Given the description of an element on the screen output the (x, y) to click on. 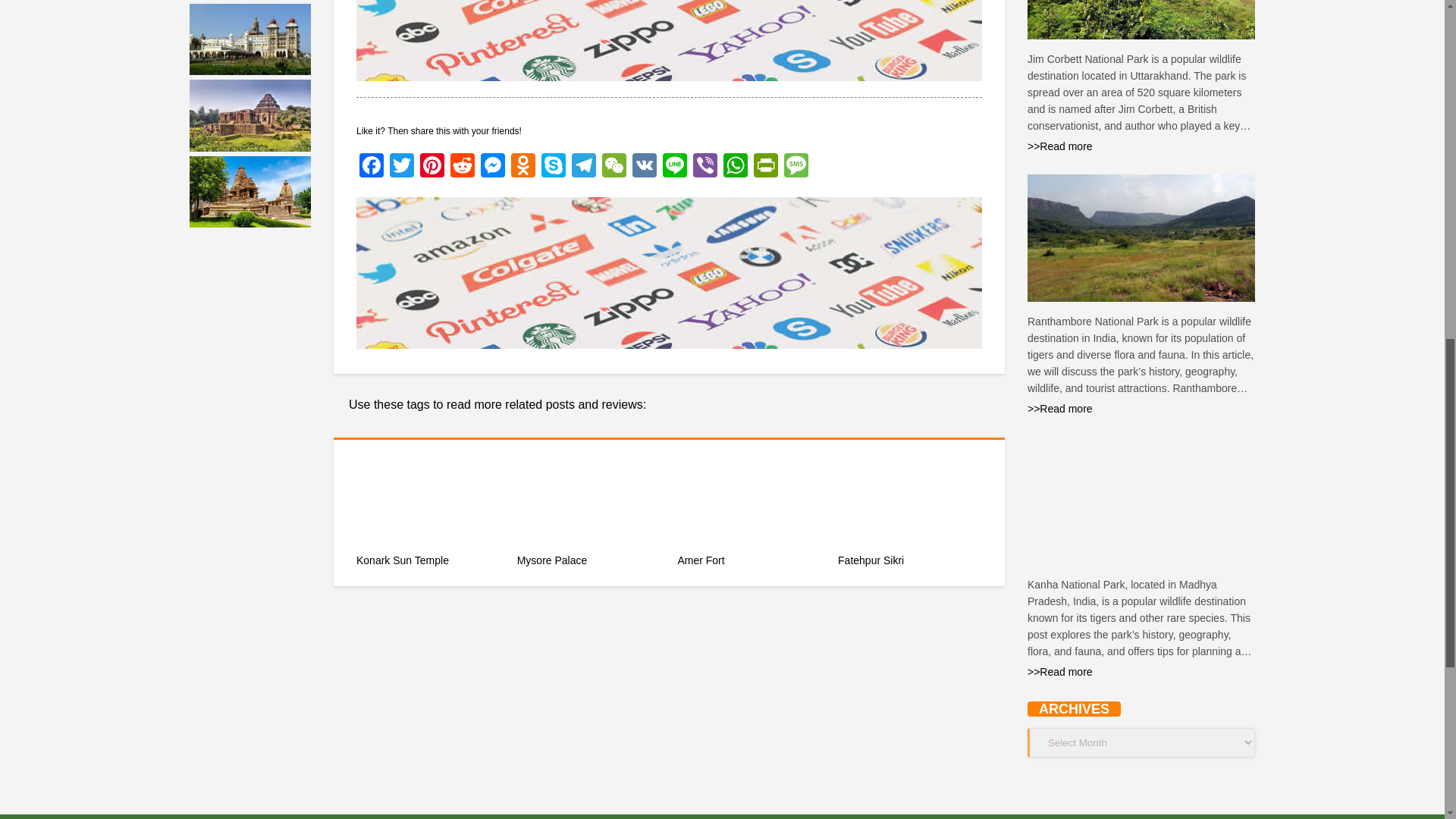
SMS (795, 166)
Fatehpur Sikri (909, 567)
WeChat (613, 166)
PrintFriendly (765, 166)
Advertisement (668, 272)
WhatsApp (735, 166)
Message (795, 166)
Advertisement (668, 40)
Odnoklassniki (523, 166)
Twitter (401, 166)
